Given the description of an element on the screen output the (x, y) to click on. 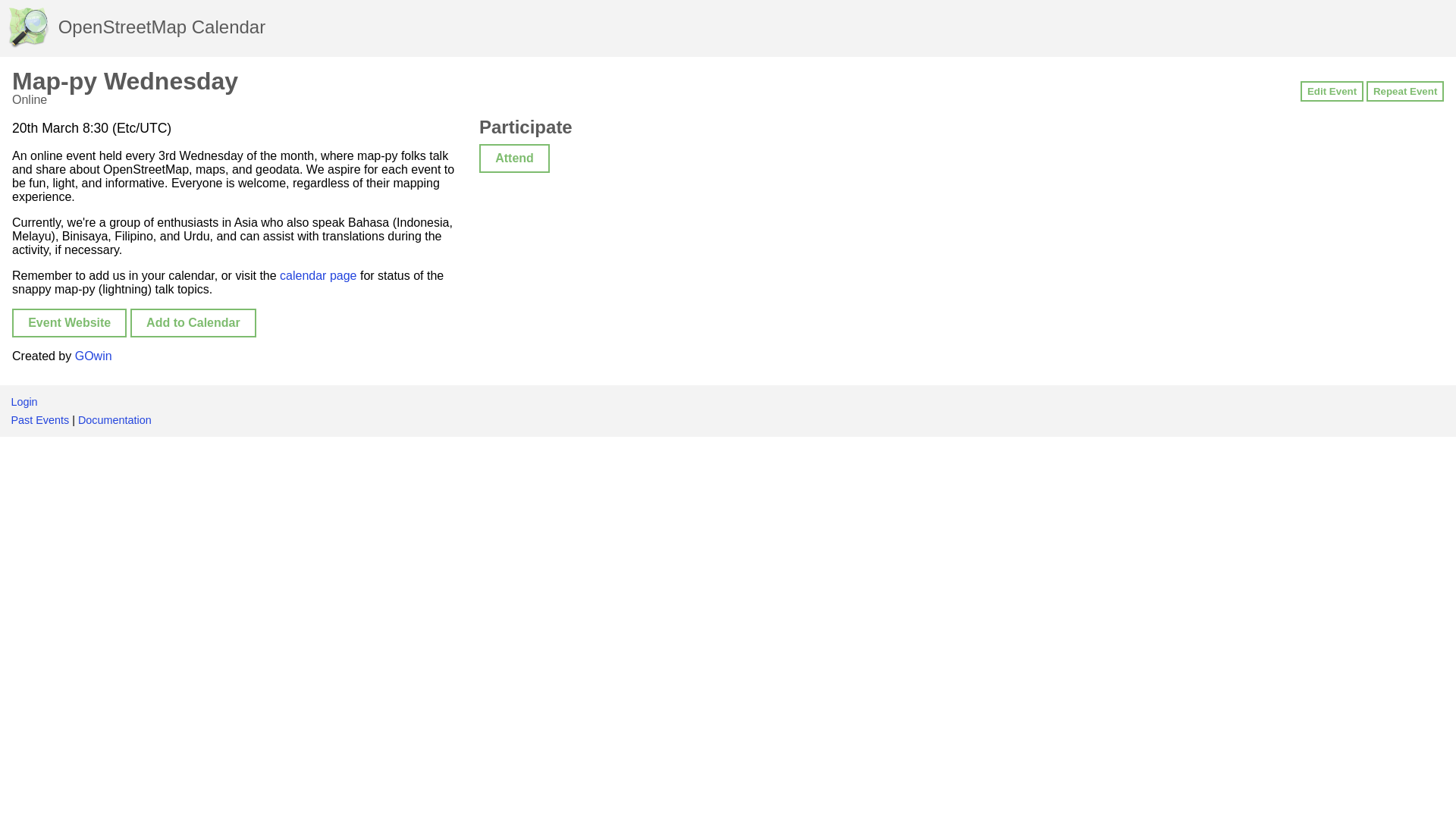
Login (23, 401)
OpenStreetMap Calendar (135, 28)
Repeat Event (1405, 91)
calendar page (317, 275)
Event Website (68, 322)
Event Website (68, 322)
Edit Event (1331, 91)
Repeat Event (1405, 90)
GOwin (93, 355)
Past Events (39, 419)
Add to Calendar (193, 322)
Edit Event (1331, 90)
Add to Calendar (193, 322)
Documentation (114, 419)
Attend (514, 158)
